Given the description of an element on the screen output the (x, y) to click on. 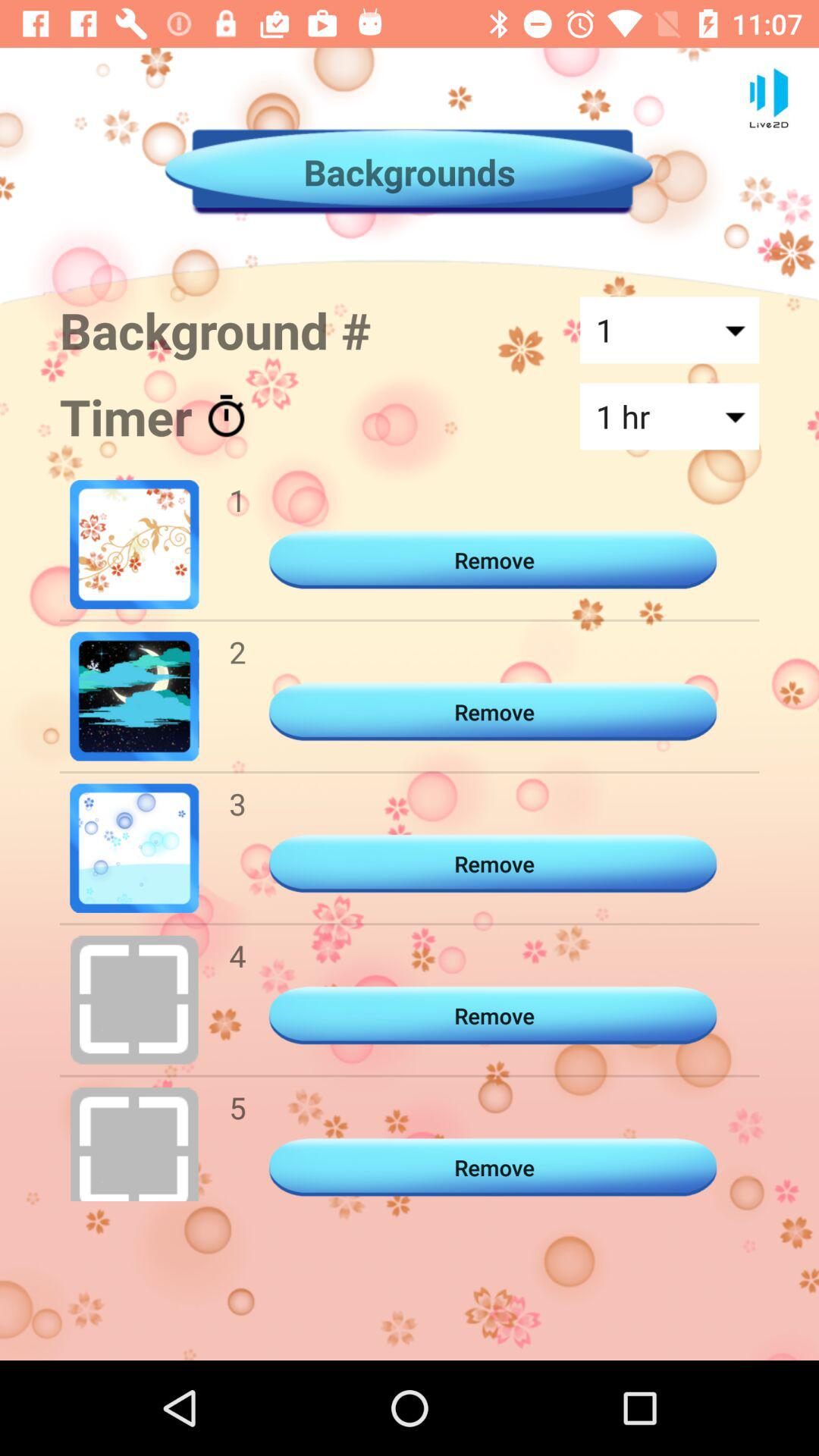
swipe until 3 item (237, 803)
